Given the description of an element on the screen output the (x, y) to click on. 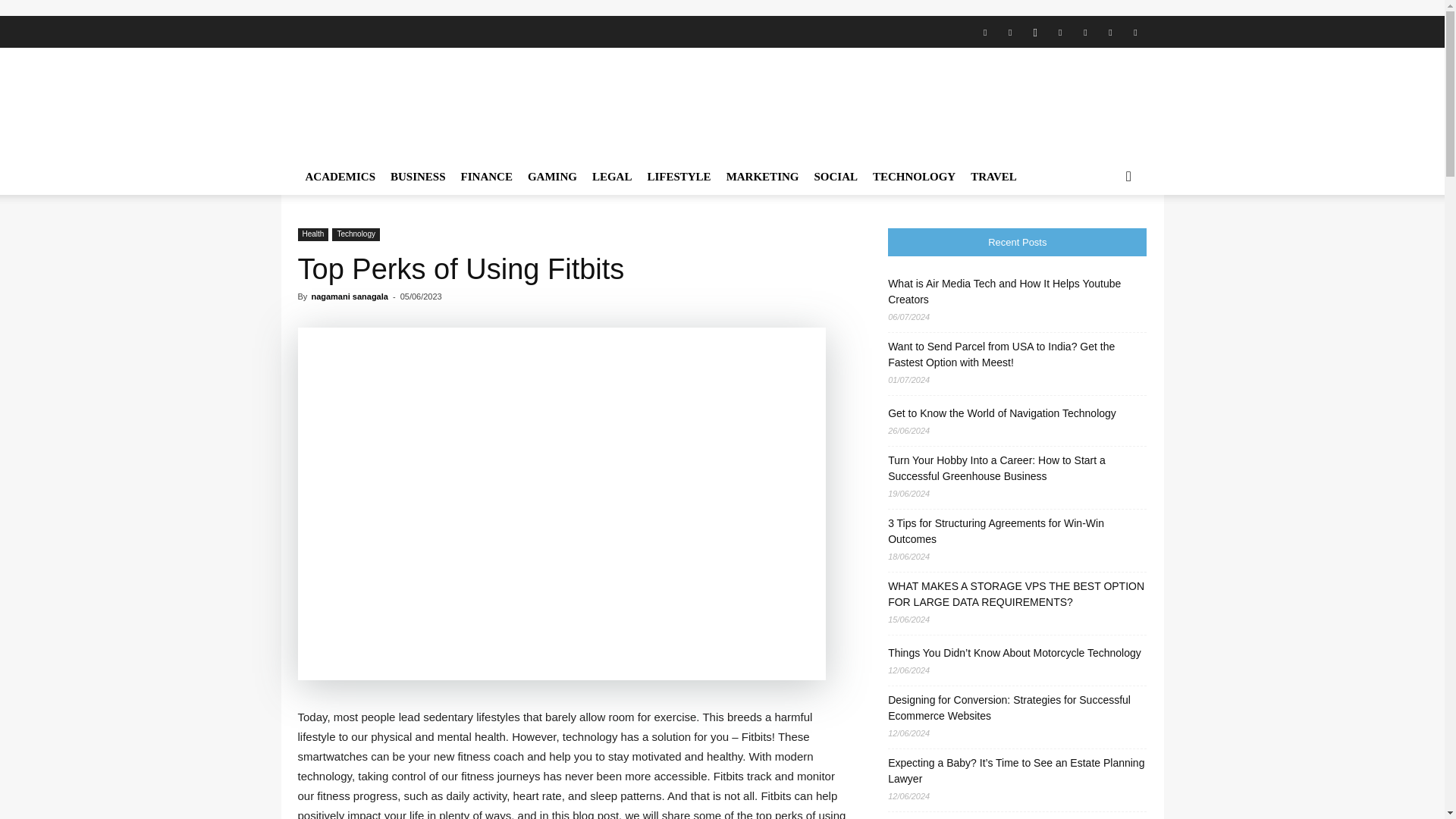
HowToCrazy.Com (426, 102)
